Given the description of an element on the screen output the (x, y) to click on. 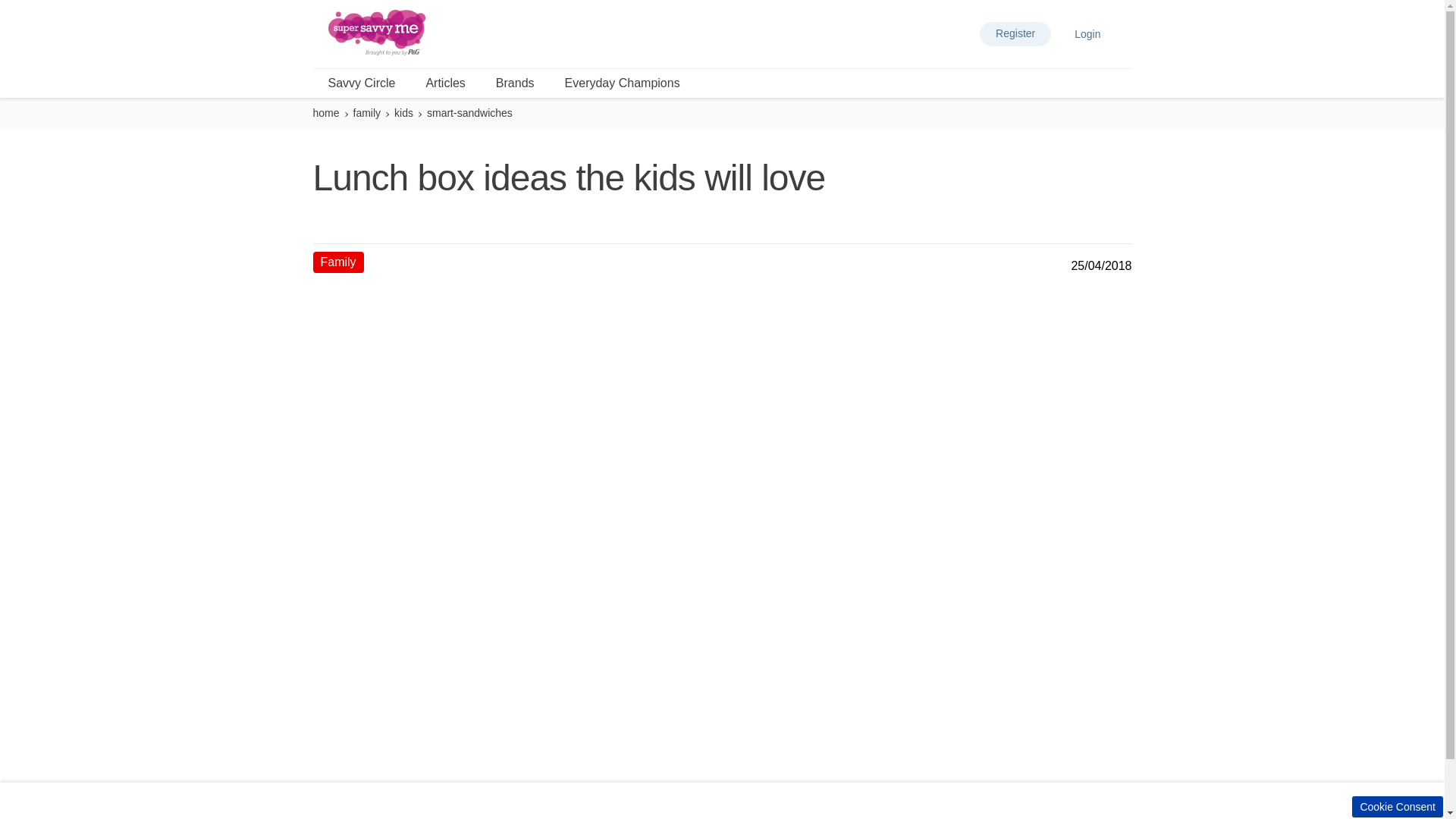
Savvy Circle (361, 83)
Articles (445, 83)
Login (1087, 33)
Register (1015, 33)
